Given the description of an element on the screen output the (x, y) to click on. 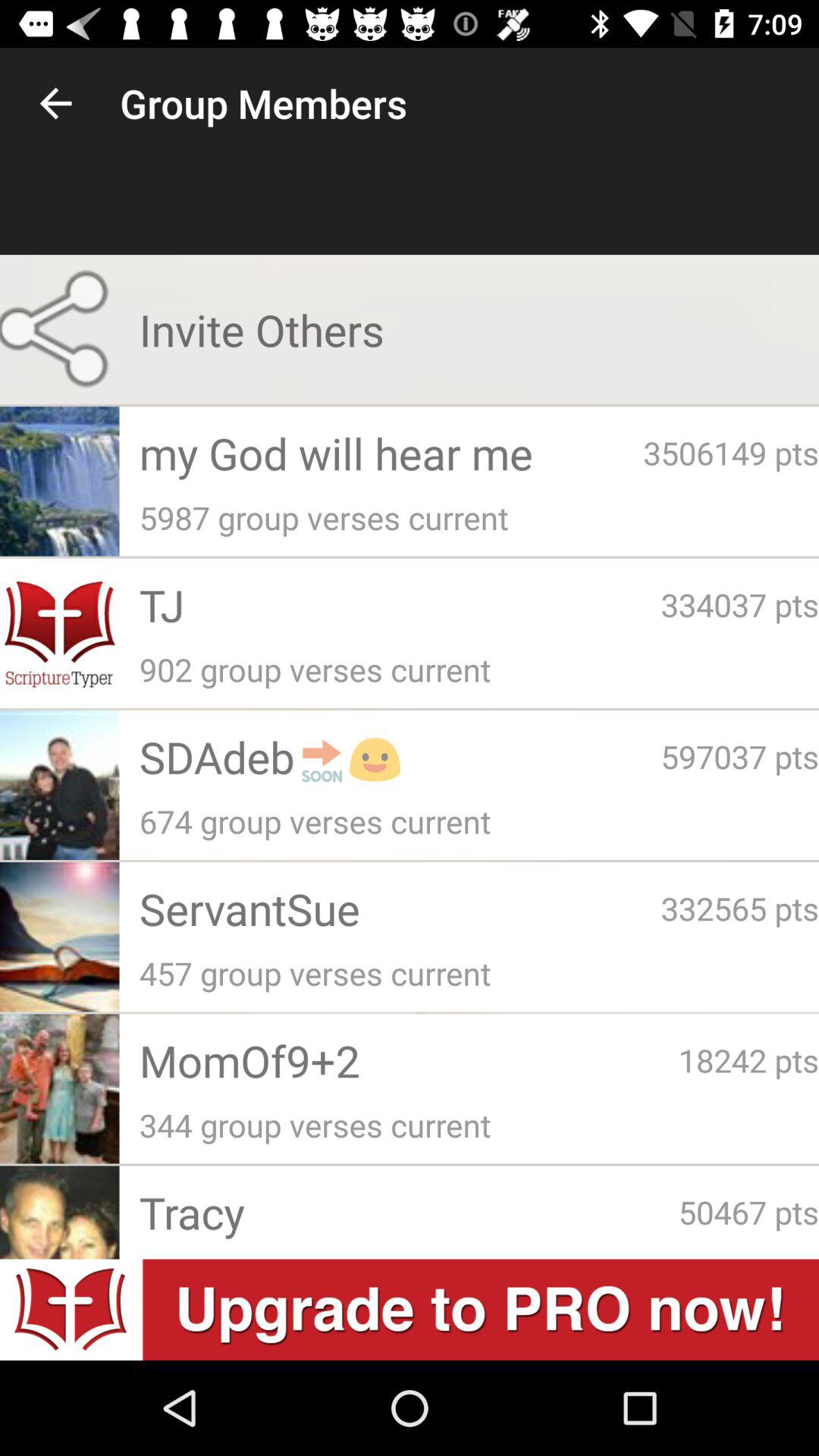
scroll to the my god will app (391, 452)
